Given the description of an element on the screen output the (x, y) to click on. 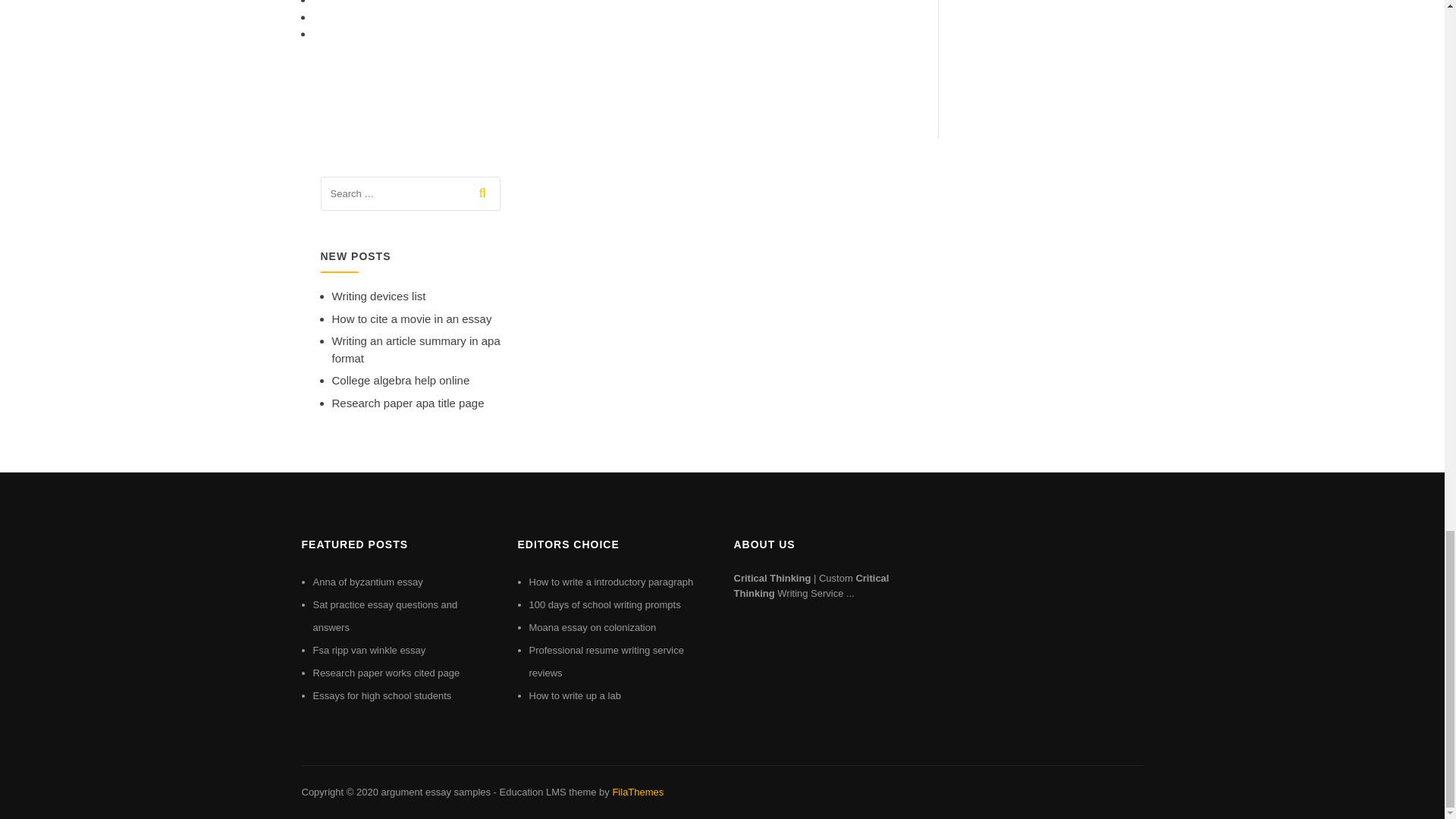
Research paper apa title page (407, 402)
College algebra help online (400, 379)
100 days of school writing prompts (605, 604)
Moana essay on colonization (592, 627)
How to cite a movie in an essay (411, 318)
Fsa ripp van winkle essay (369, 650)
argument essay samples (435, 791)
Research paper works cited page (386, 672)
Anna of byzantium essay (367, 582)
Sat practice essay questions and answers (385, 615)
